Given the description of an element on the screen output the (x, y) to click on. 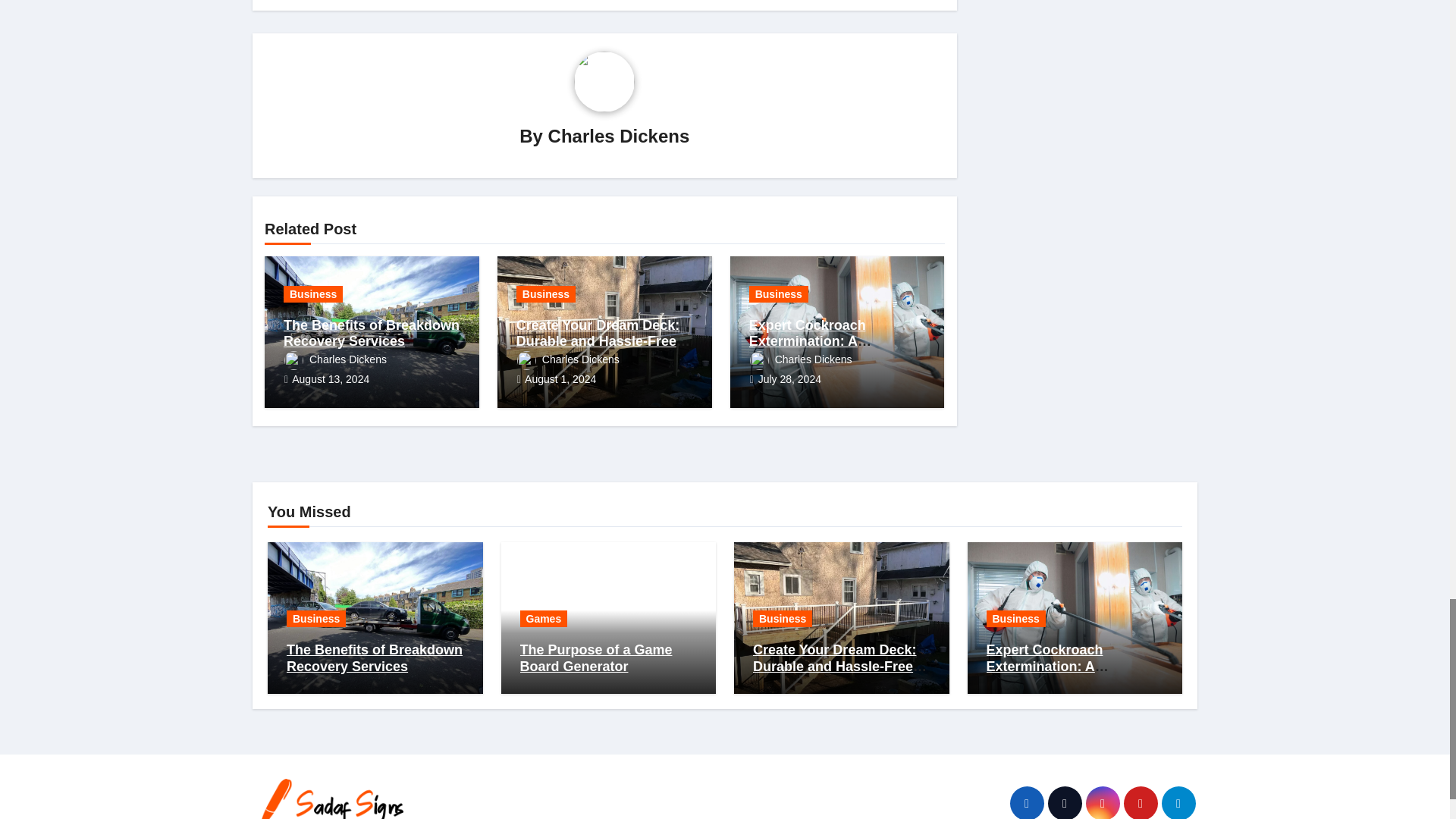
Permalink to: The Benefits of Breakdown Recovery Services (371, 333)
Permalink to: The Purpose of a Game Board Generator (595, 658)
Permalink to: The Benefits of Breakdown Recovery Services (374, 658)
